Given the description of an element on the screen output the (x, y) to click on. 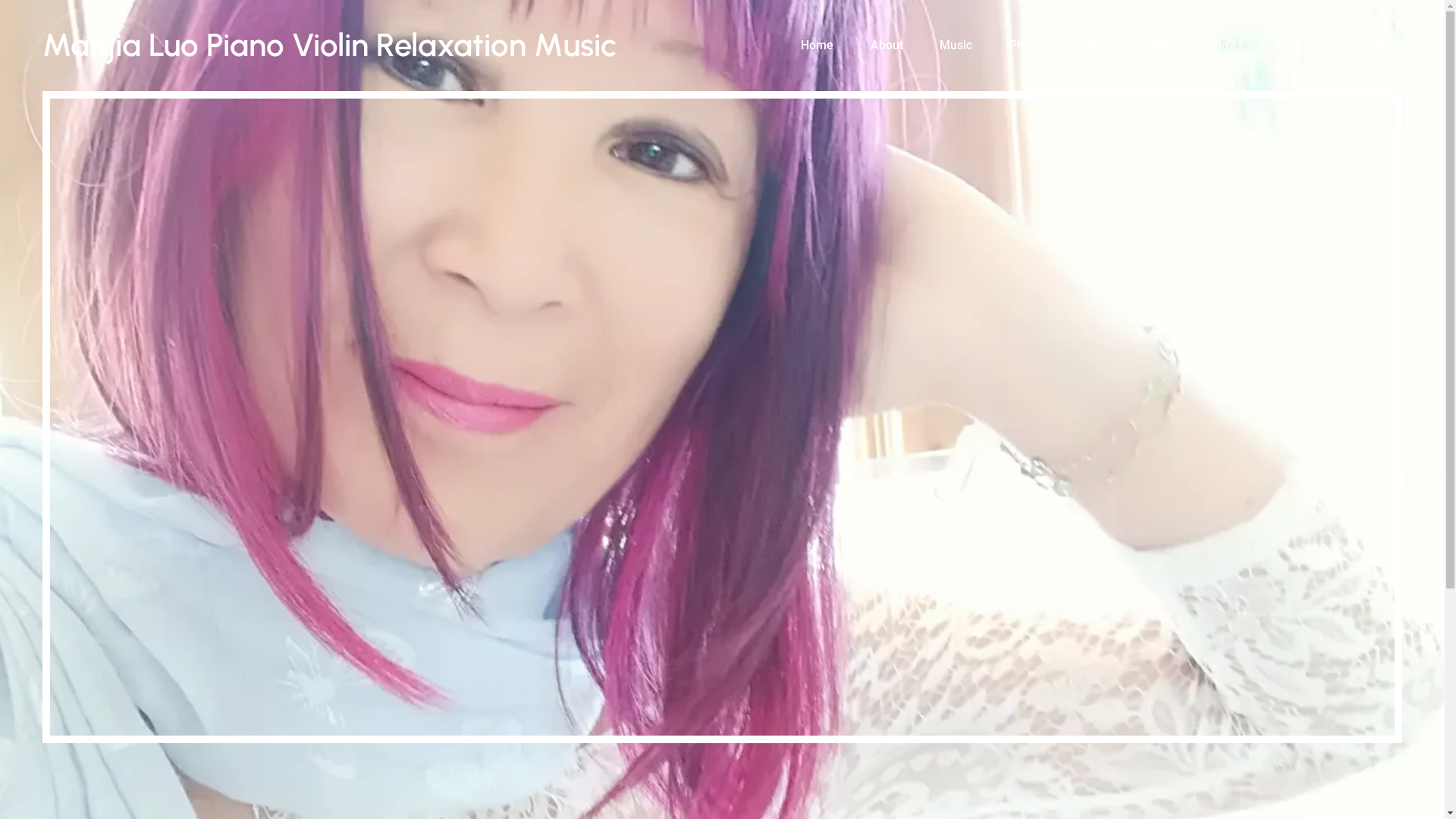
Music Element type: text (955, 45)
Photos Element type: text (1027, 45)
Home Element type: text (816, 45)
Contact Element type: text (1381, 45)
About Element type: text (886, 45)
Song List Element type: text (1298, 45)
Video Element type: text (1098, 45)
Album & Song Element type: text (1193, 45)
Manjia Luo Piano Violin Relaxation Music Element type: text (329, 45)
